Given the description of an element on the screen output the (x, y) to click on. 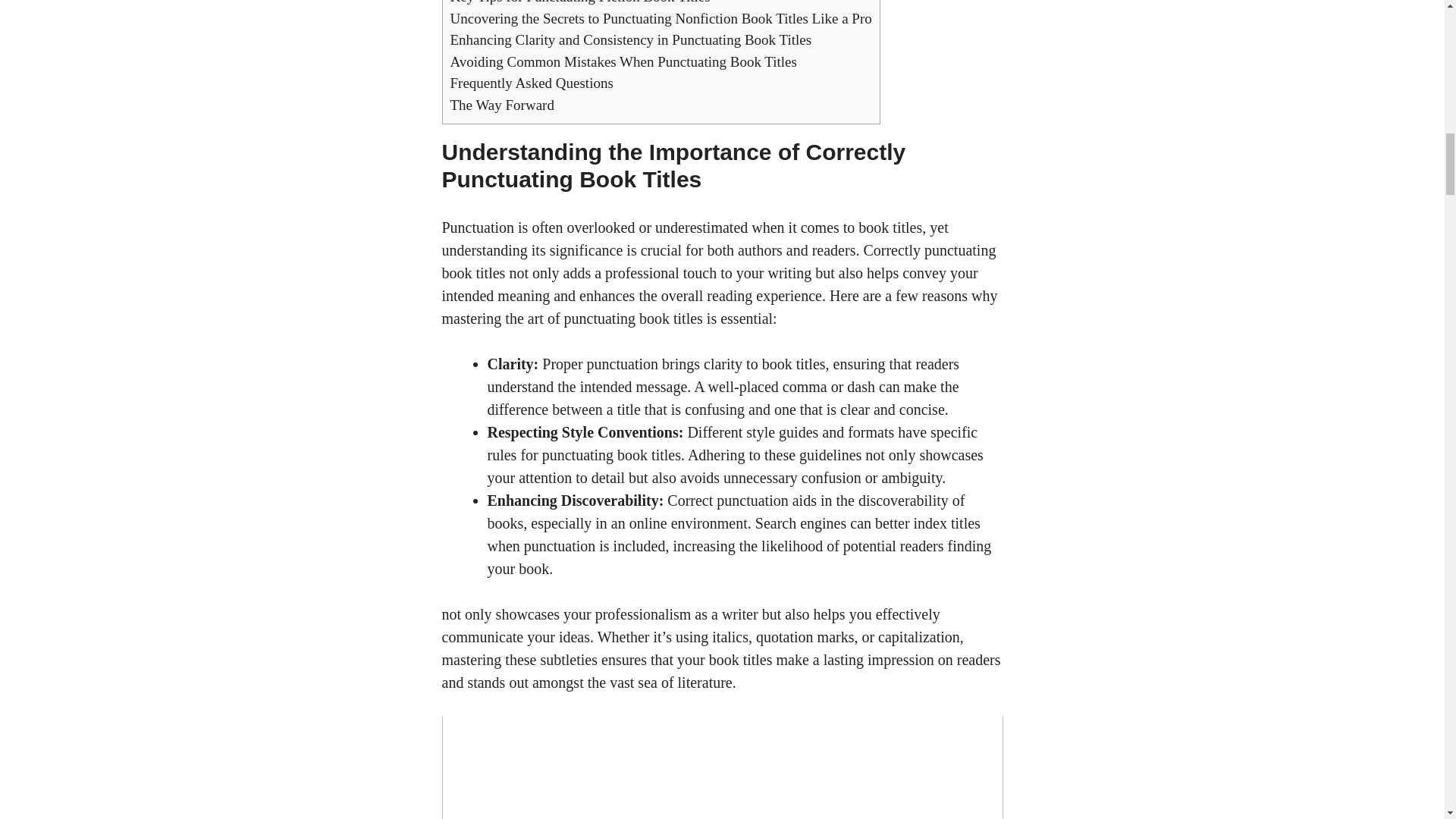
Frequently Asked Questions (530, 82)
The Way Forward (501, 105)
Key Tips for Punctuating Fiction Book Titles (579, 2)
Avoiding Common Mistakes When Punctuating Book Titles (622, 61)
Enhancing Clarity and Consistency in Punctuating Book Titles (630, 39)
